Given the description of an element on the screen output the (x, y) to click on. 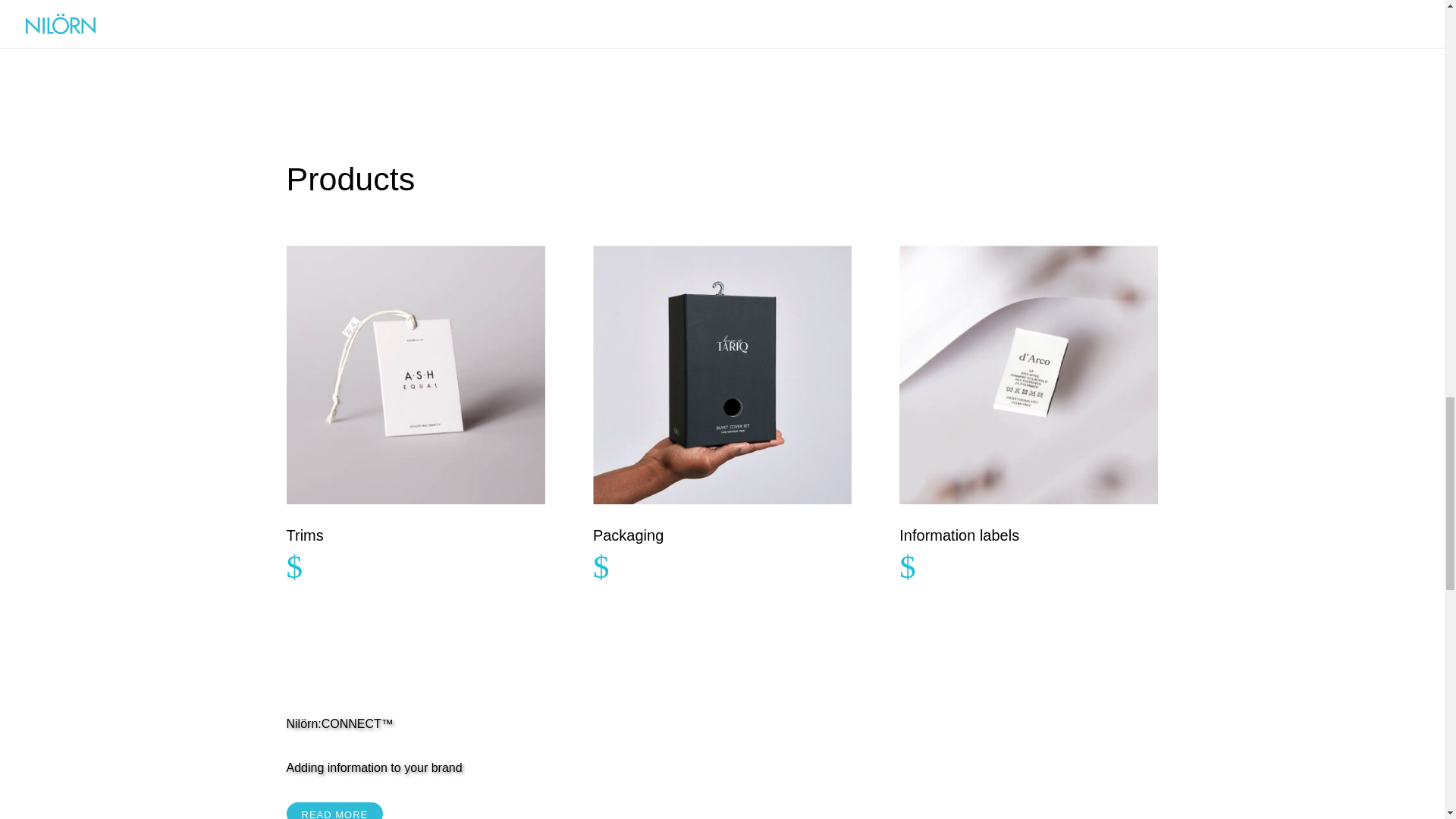
trims-image-front (415, 374)
information-labels-image-front (1028, 374)
packaging-image-front (721, 374)
